Given the description of an element on the screen output the (x, y) to click on. 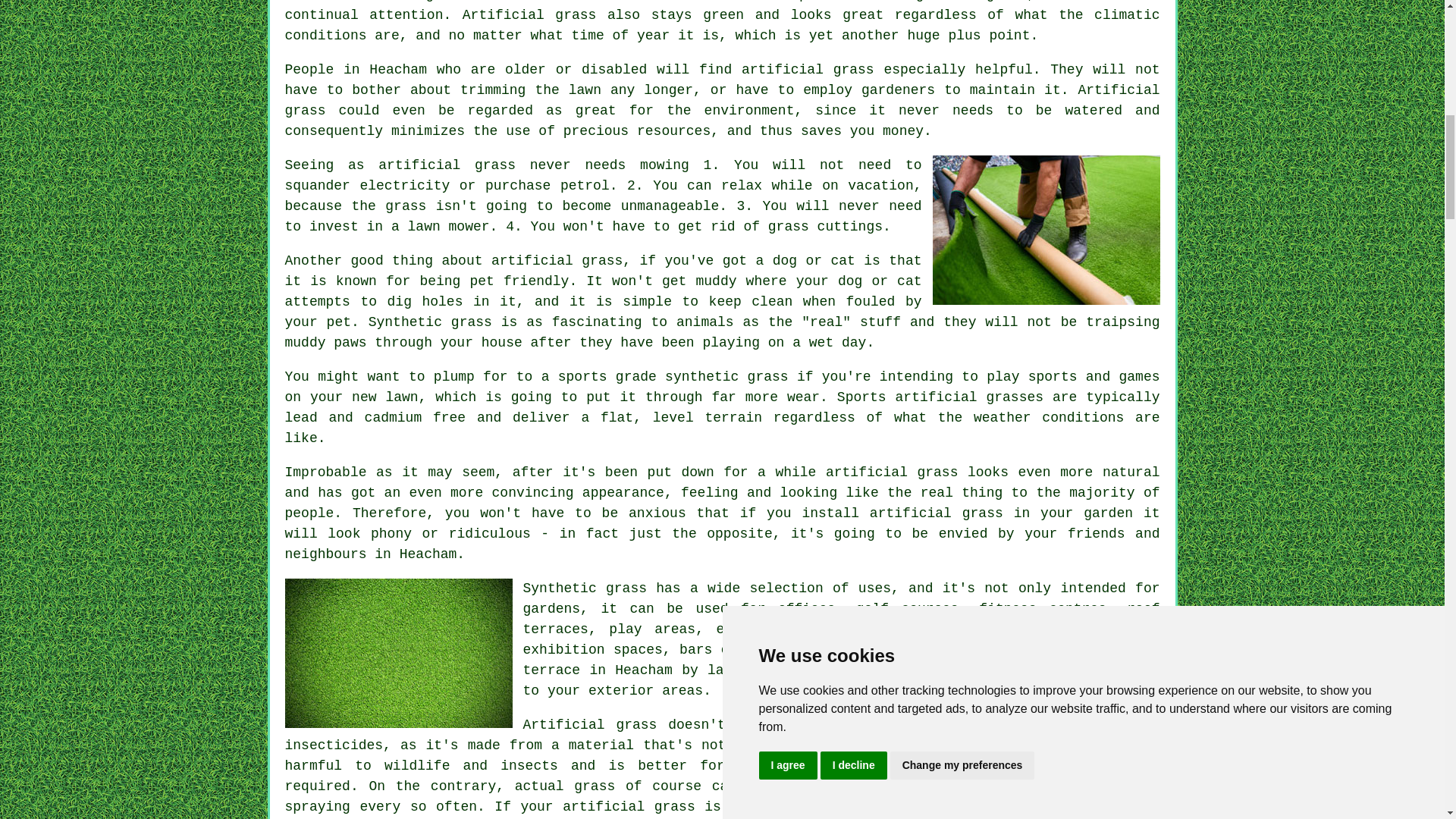
Artificial Grass Installation Heacham UK (1046, 229)
garden (1107, 513)
Artificial grass (722, 99)
artificial grass (557, 260)
